Given the description of an element on the screen output the (x, y) to click on. 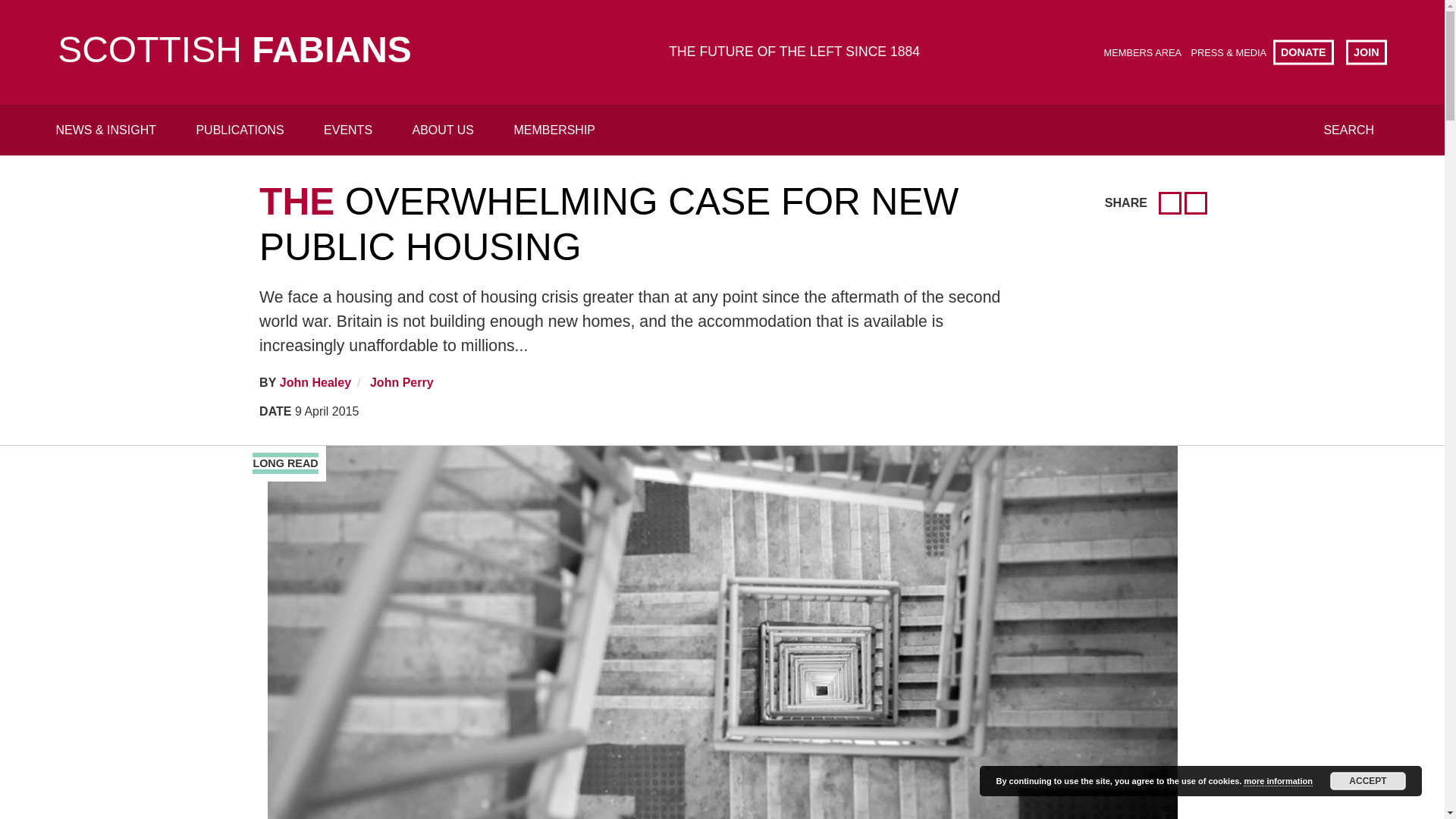
MEMBERS AREA (1141, 52)
DONATE (1302, 52)
SCOTTISH FABIANS (235, 51)
SEARCH (1348, 129)
PUBLICATIONS (239, 129)
MEMBERSHIP (553, 129)
JOIN (1366, 52)
site-search (714, 76)
EVENTS (347, 129)
ABOUT US (443, 129)
